Given the description of an element on the screen output the (x, y) to click on. 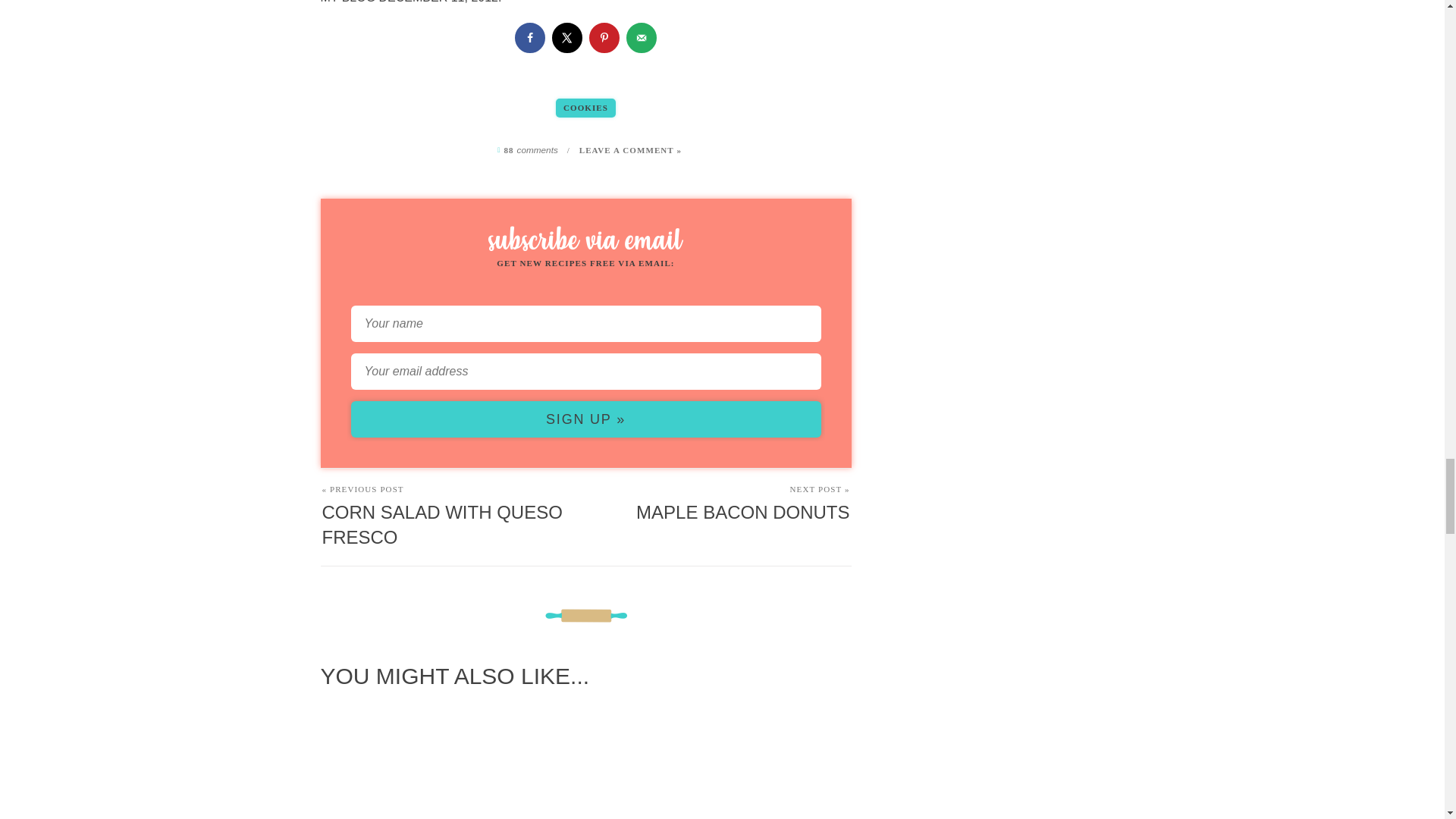
Share on Facebook (529, 37)
Share on X (566, 37)
